Given the description of an element on the screen output the (x, y) to click on. 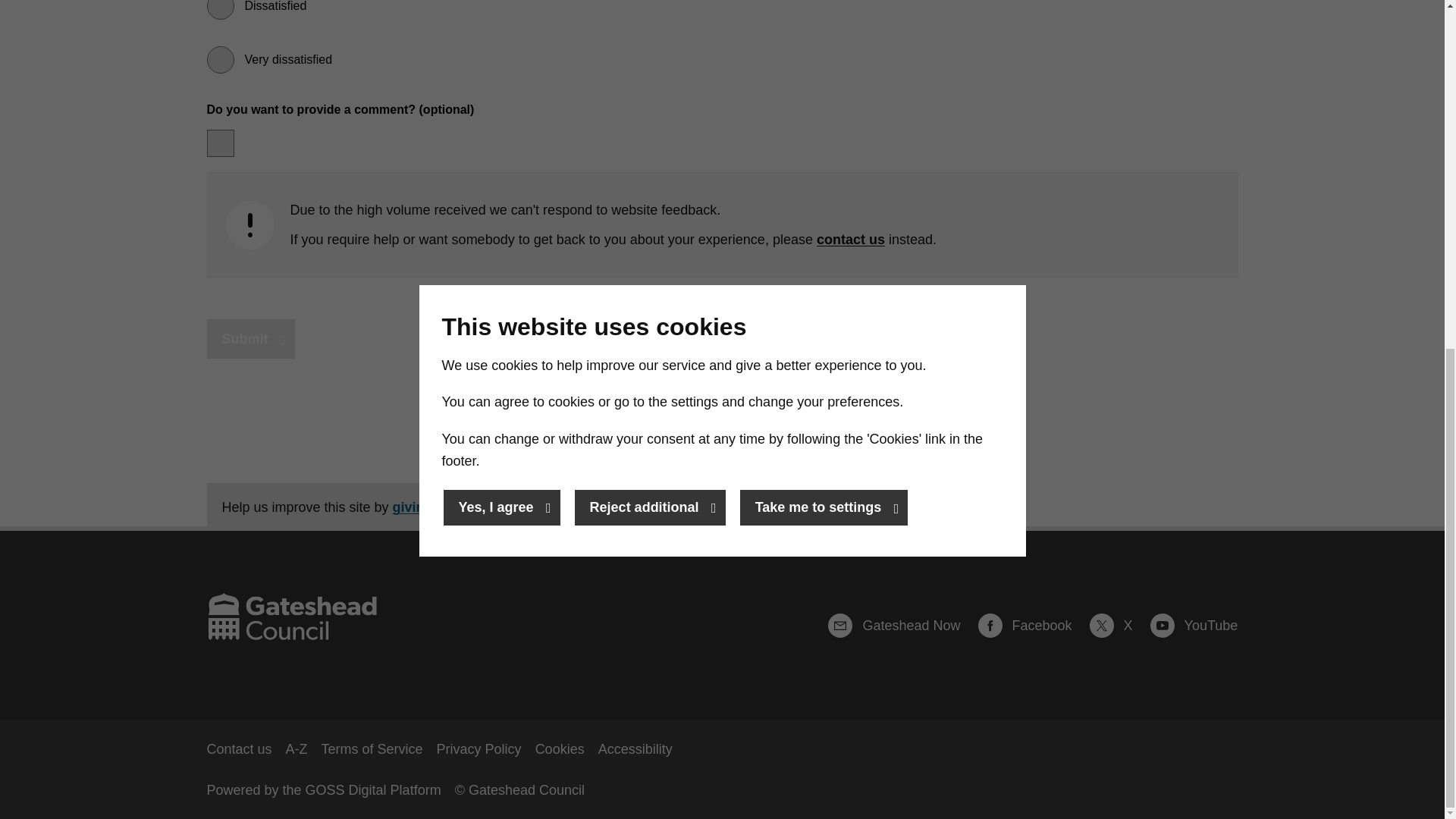
YouTube : opens on new browser window or tab (1194, 625)
Facebook : opens on new browser window or tab (1032, 625)
Cookies (560, 749)
giving feedback (444, 507)
Terms of Service (372, 749)
X : opens on new browser window or tab (1118, 625)
Gateshead Now (901, 625)
Privacy Policy (478, 749)
YouTube (1194, 625)
Facebook (1032, 625)
Gateshead Now (901, 625)
Powered by the GOSS Digital Platform (323, 789)
Submit (250, 339)
X (1118, 625)
